Given the description of an element on the screen output the (x, y) to click on. 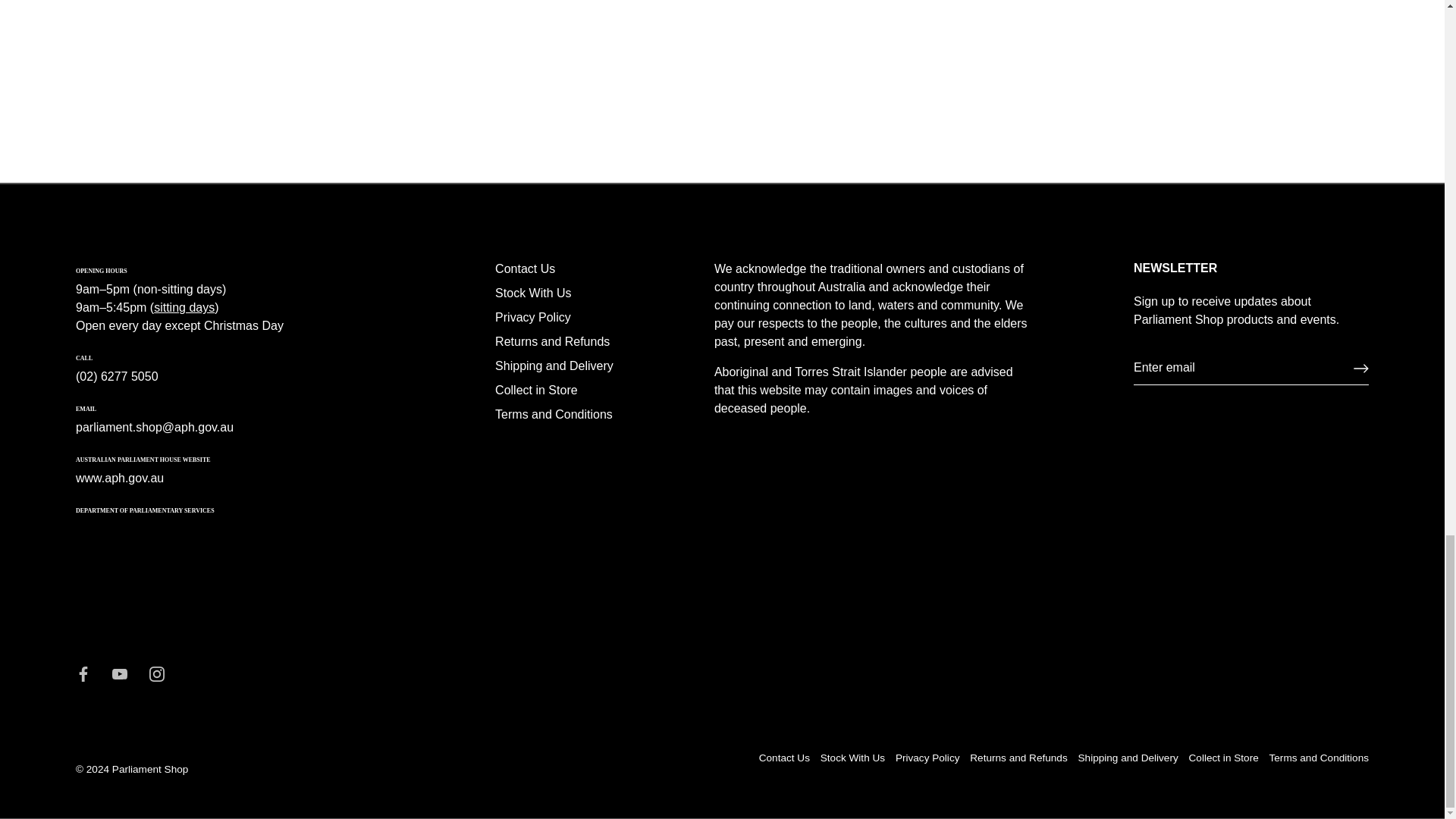
Instagram (156, 673)
RIGHT ARROW LONG (1361, 368)
Youtube (120, 673)
